Given the description of an element on the screen output the (x, y) to click on. 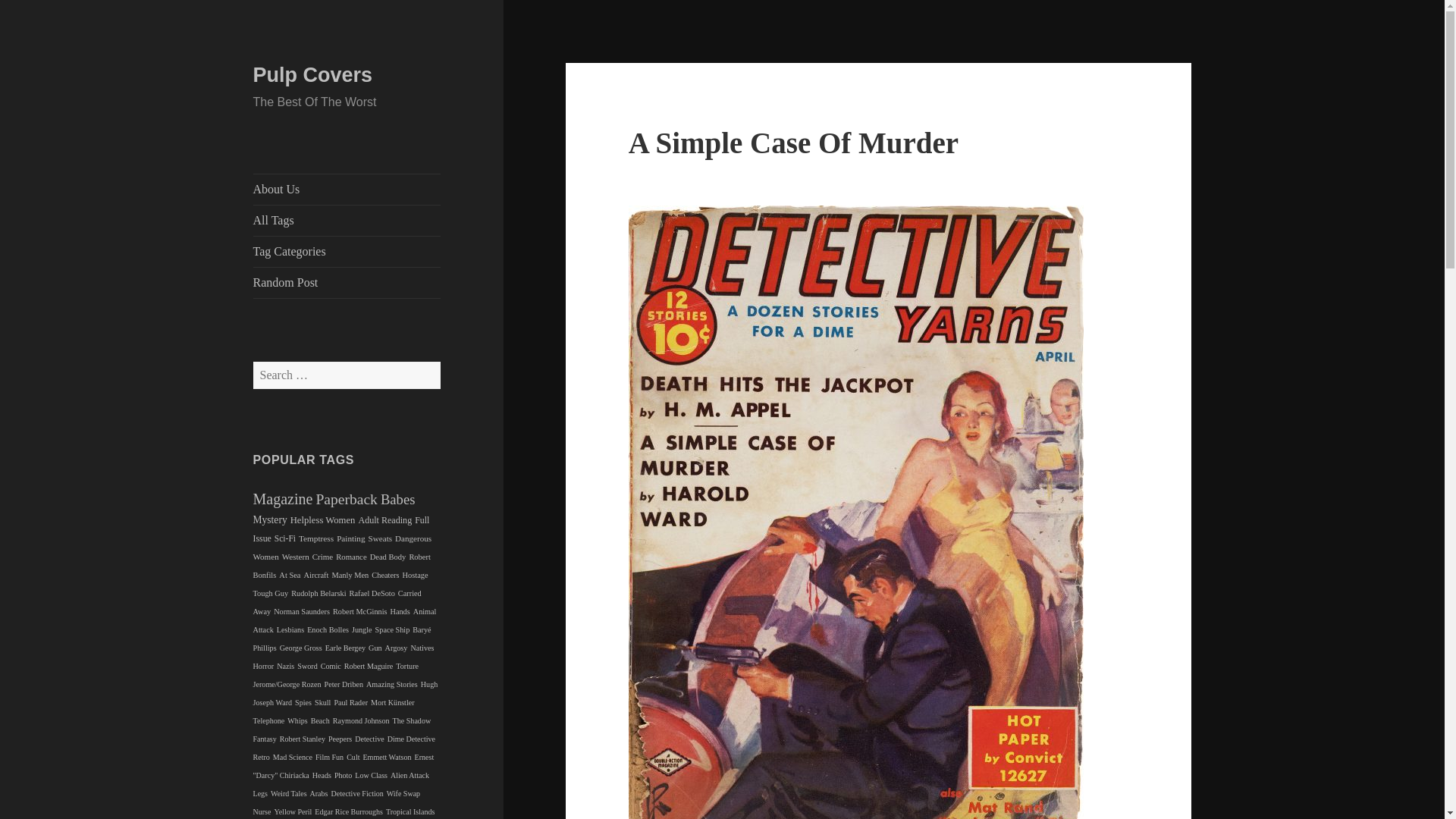
Babes (397, 498)
1648 topics (315, 537)
Full Issue (341, 529)
Pulp Covers (312, 74)
About Us (347, 189)
All Tags (347, 220)
Manly Men (349, 574)
Romance (351, 556)
Crime (323, 556)
Magazine (283, 498)
Western (295, 556)
Animal Attack (344, 620)
Tough Guy (270, 592)
11835 topics (283, 498)
Dangerous Women (342, 547)
